Given the description of an element on the screen output the (x, y) to click on. 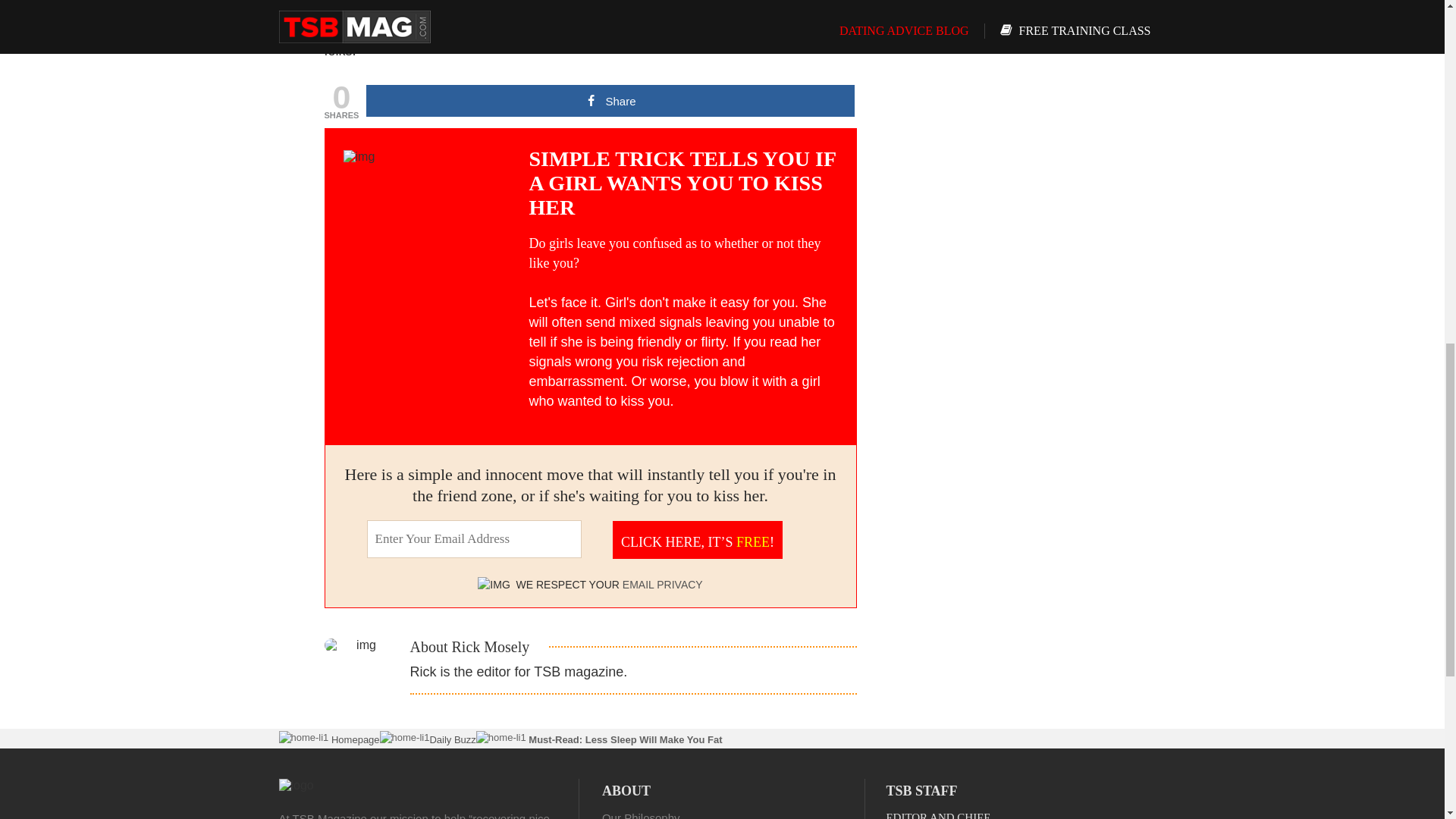
Must-Read: Less Sleep Will Make You Fat (623, 739)
Homepage (353, 739)
Homepage (353, 739)
Daily Buzz (452, 739)
EMAIL PRIVACY (663, 584)
Share (609, 101)
